Given the description of an element on the screen output the (x, y) to click on. 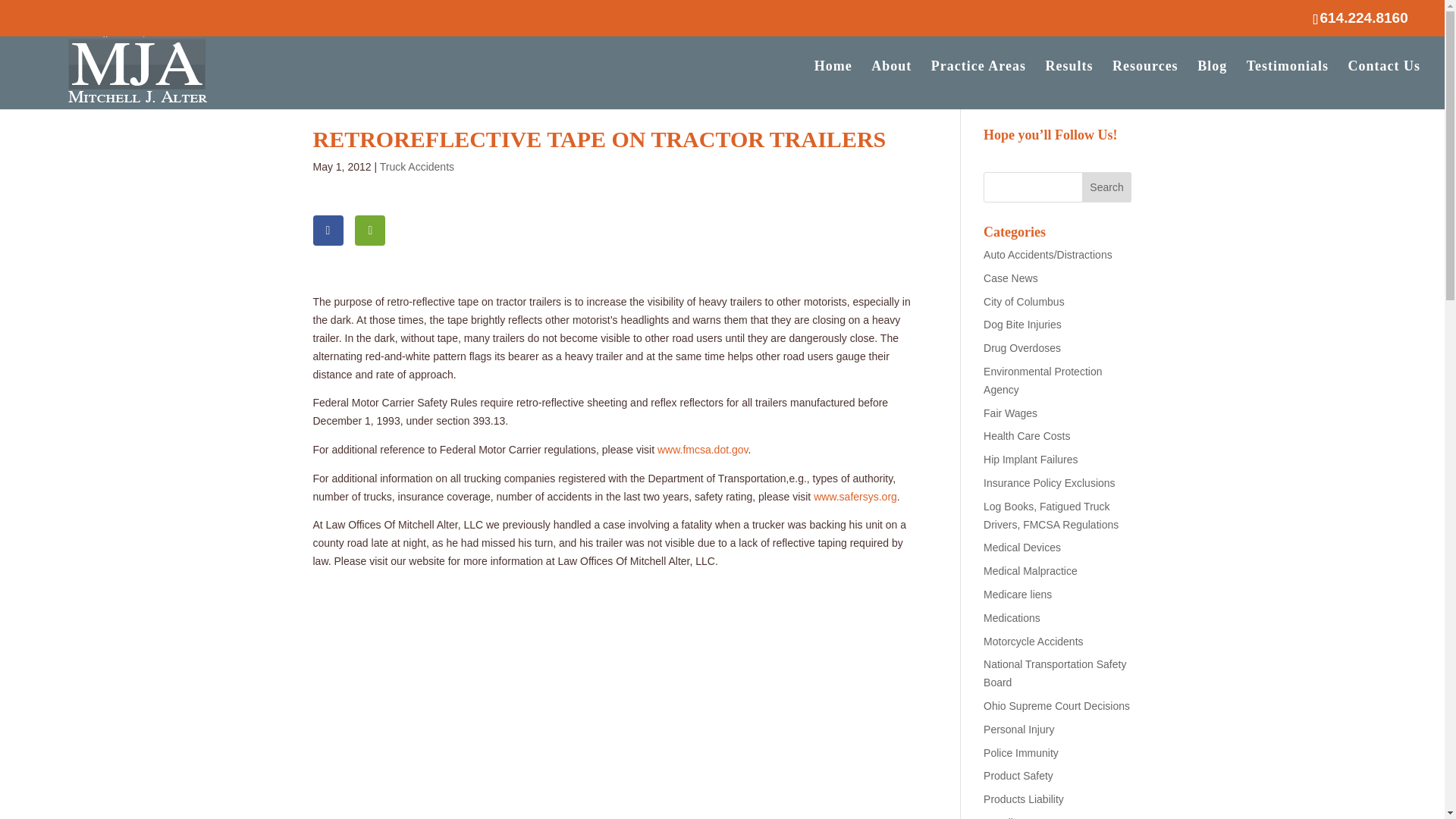
Fair Wages (1010, 413)
Contact Us (1384, 84)
Truck Accidents (417, 166)
Motorcycle Accidents (1033, 641)
Medications (1012, 617)
City of Columbus (1024, 301)
Resources (1144, 84)
Search (1106, 186)
www.safersys.org (854, 496)
Hip Implant Failures (1031, 459)
